Given the description of an element on the screen output the (x, y) to click on. 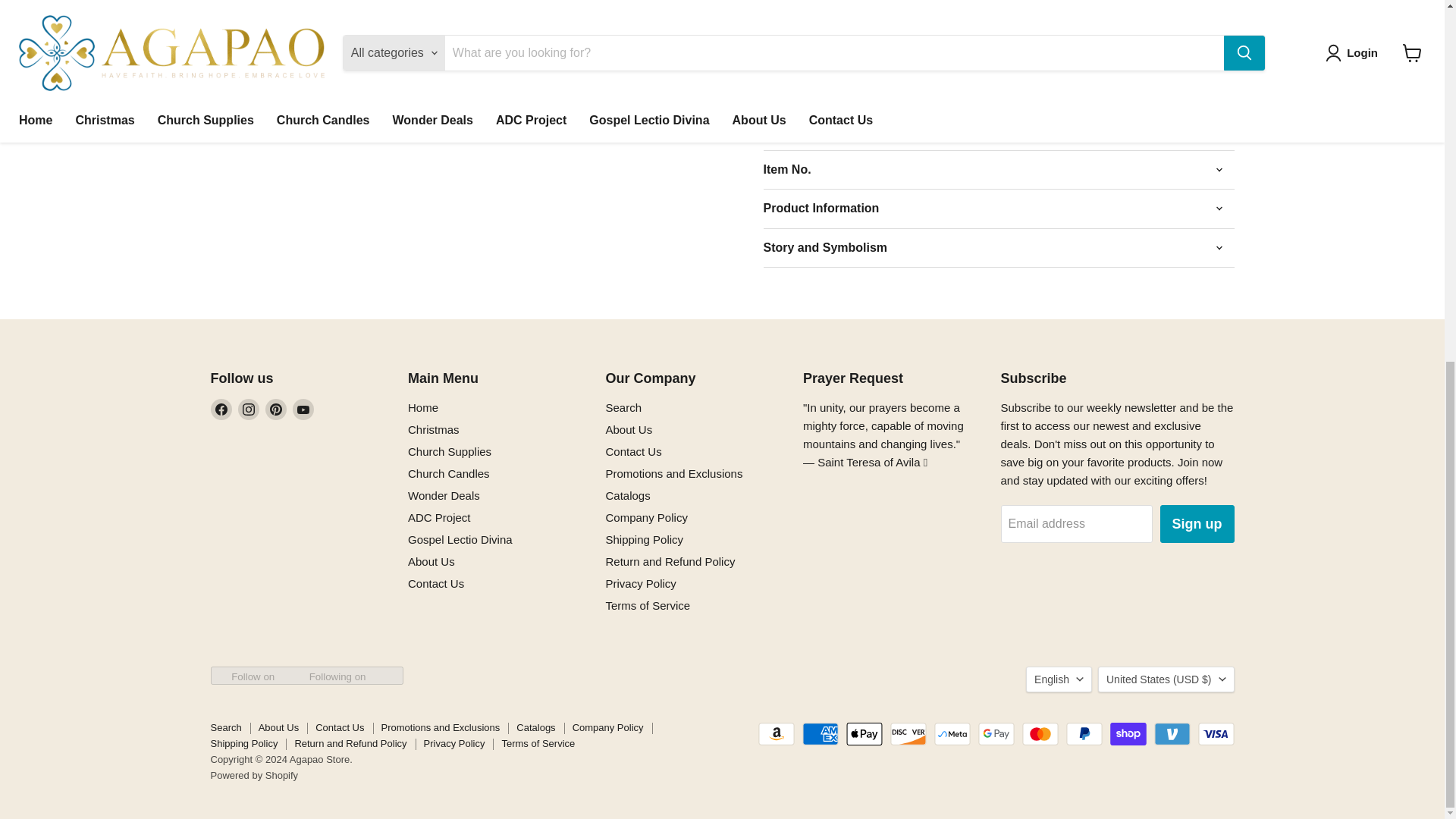
Facebook (221, 409)
1 (839, 16)
Instagram (248, 409)
Pinterest (275, 409)
YouTube (303, 409)
